Given the description of an element on the screen output the (x, y) to click on. 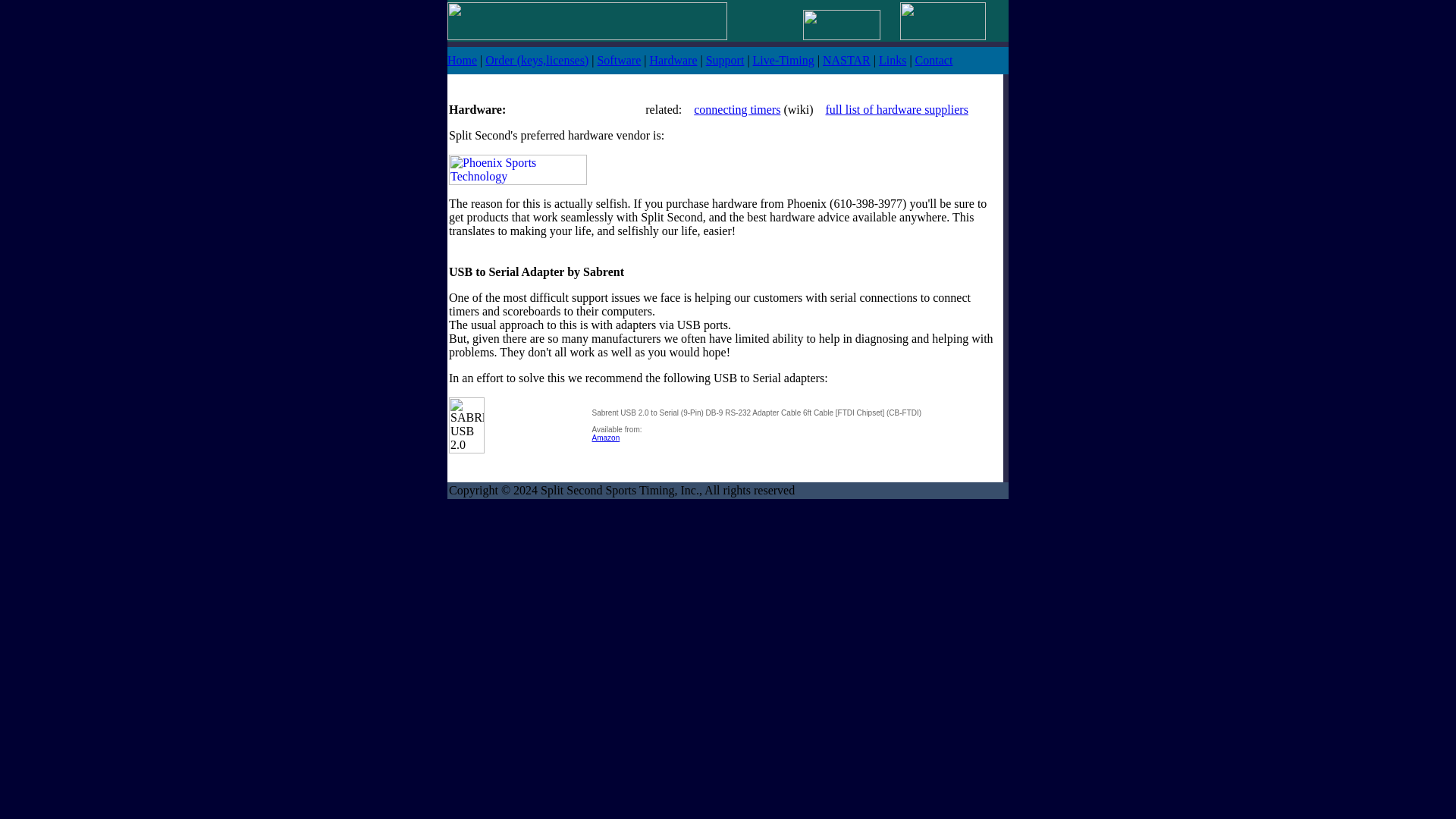
connecting timers (737, 109)
Support (725, 60)
Links (892, 60)
Amazon (606, 438)
Home (461, 60)
Hardware (673, 60)
Software (618, 60)
NASTAR (846, 60)
Live-Timing (782, 60)
full list of hardware suppliers (896, 109)
Contact (934, 60)
